Given the description of an element on the screen output the (x, y) to click on. 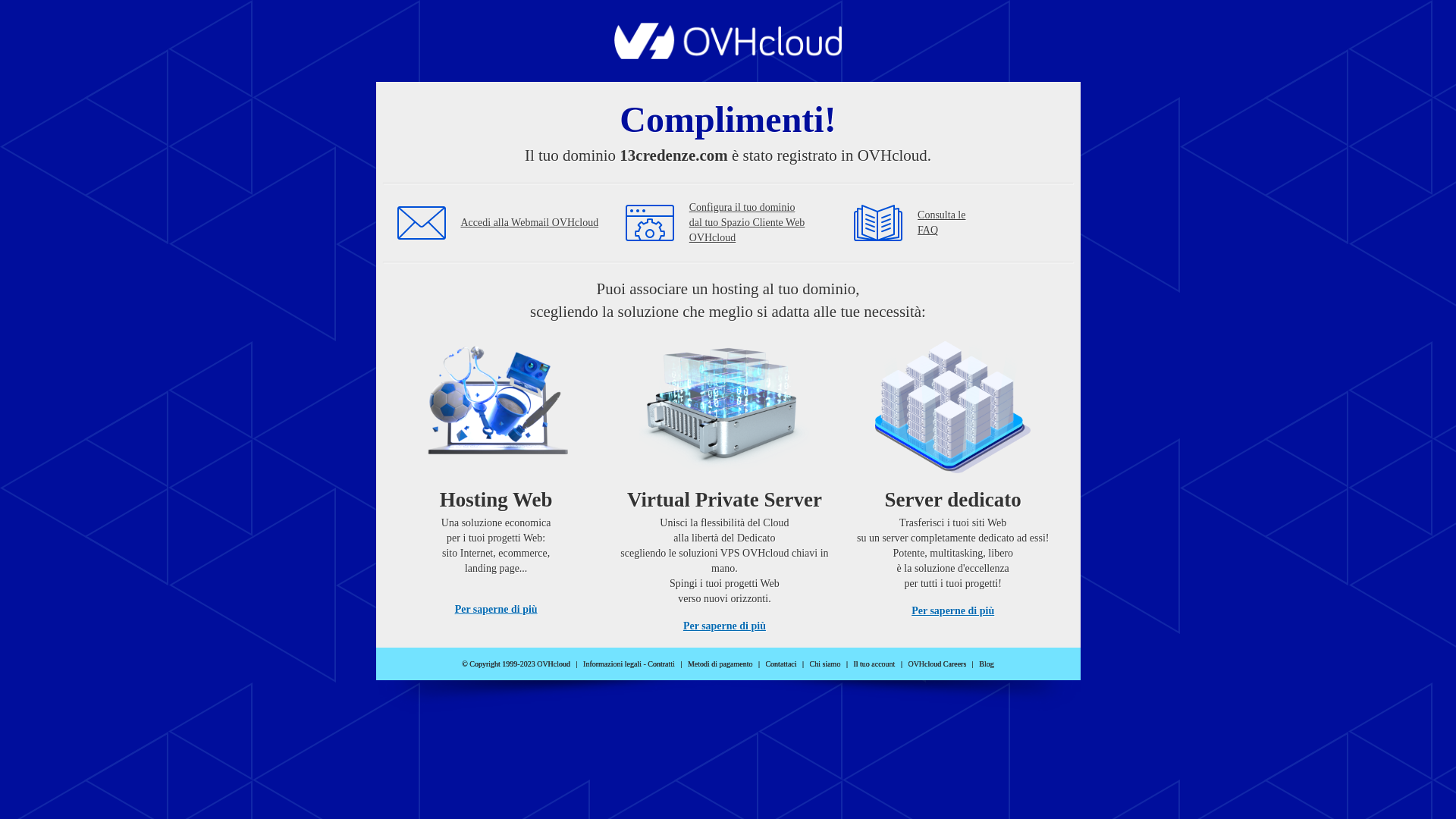
Accedi alla Webmail OVHcloud Element type: text (530, 222)
OVHcloud Element type: hover (727, 54)
Consulta le
FAQ Element type: text (941, 222)
Accedi al tuo Spazio Cliente OVH Element type: hover (649, 222)
Accedi alla Webmail OVH Element type: hover (421, 222)
Server dedicati Element type: hover (953, 408)
Chi siamo Element type: text (824, 663)
Configura il tuo dominio
dal tuo Spazio Cliente Web OVHcloud Element type: text (763, 222)
OVHcloud Careers Element type: text (936, 663)
Virtual Private Server Element type: hover (724, 408)
Blog Element type: text (986, 663)
Metodi di pagamento Element type: text (720, 663)
Il tuo account Element type: text (873, 663)
Accedi alle FAQ Element type: hover (877, 222)
Informazioni legali - Contratti Element type: text (628, 663)
Contattaci Element type: text (780, 663)
Hosting Web Element type: hover (495, 408)
